Given the description of an element on the screen output the (x, y) to click on. 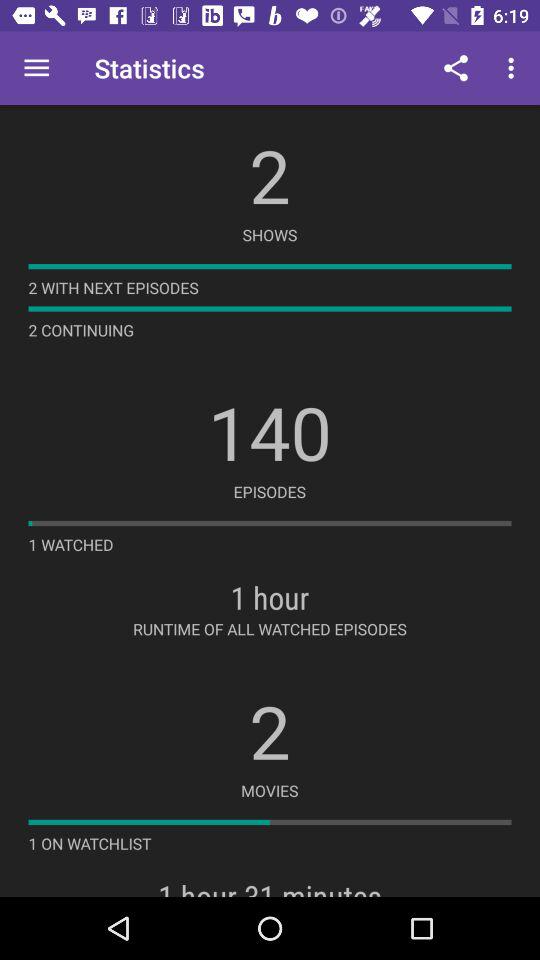
scroll until the 2 with next item (113, 287)
